Given the description of an element on the screen output the (x, y) to click on. 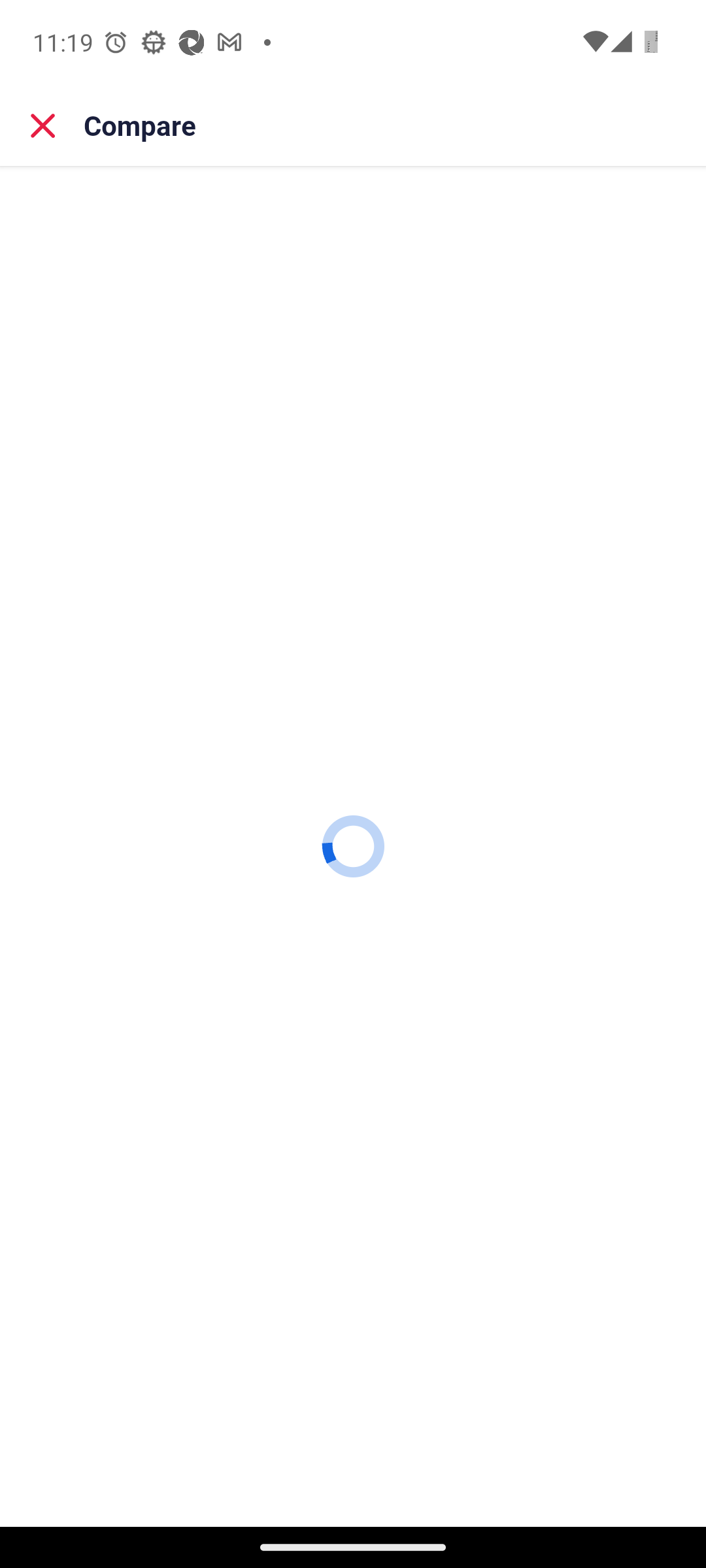
Close, back to property search. (43, 125)
